Given the description of an element on the screen output the (x, y) to click on. 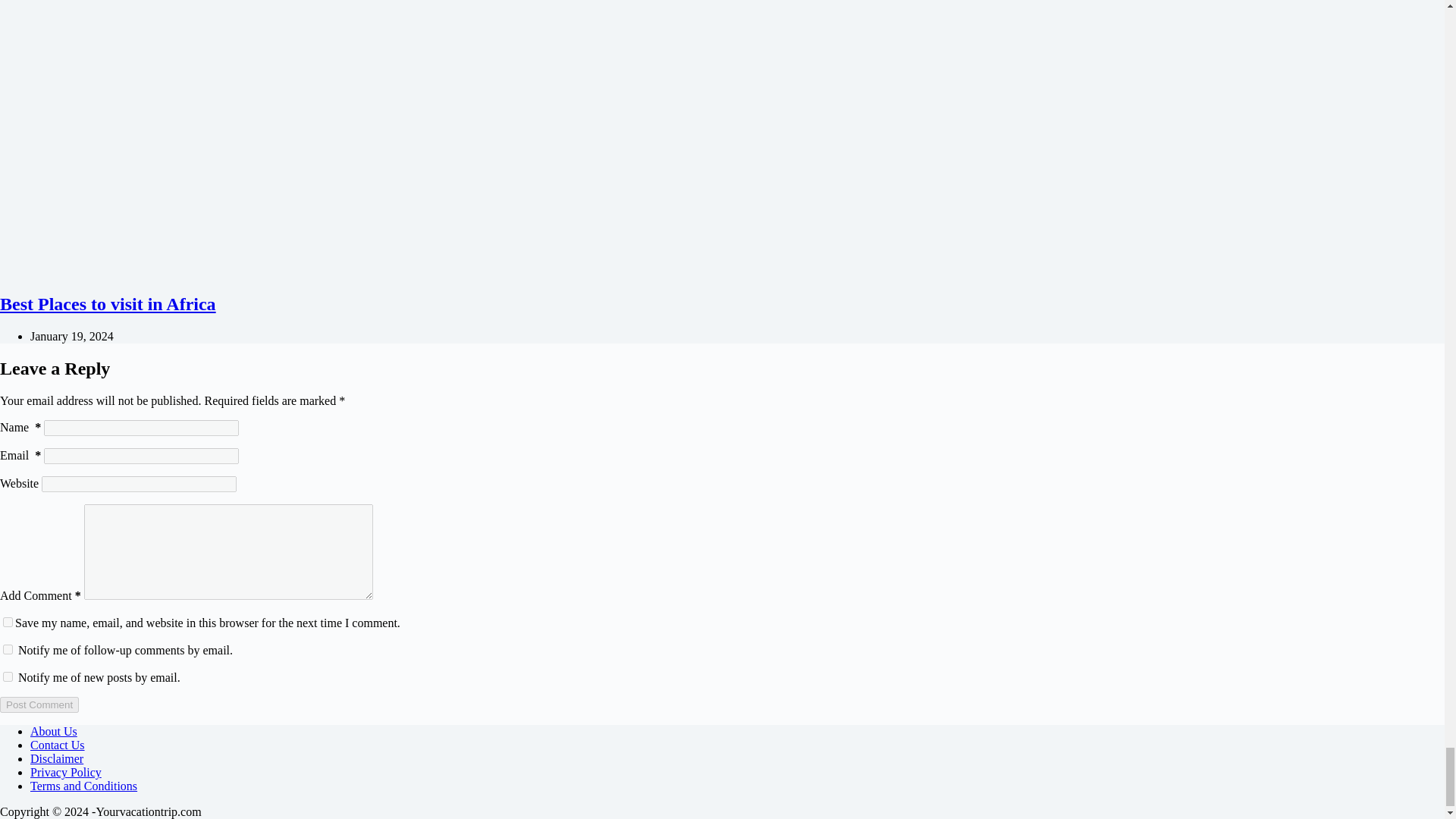
subscribe (7, 649)
yes (7, 622)
subscribe (7, 676)
